Given the description of an element on the screen output the (x, y) to click on. 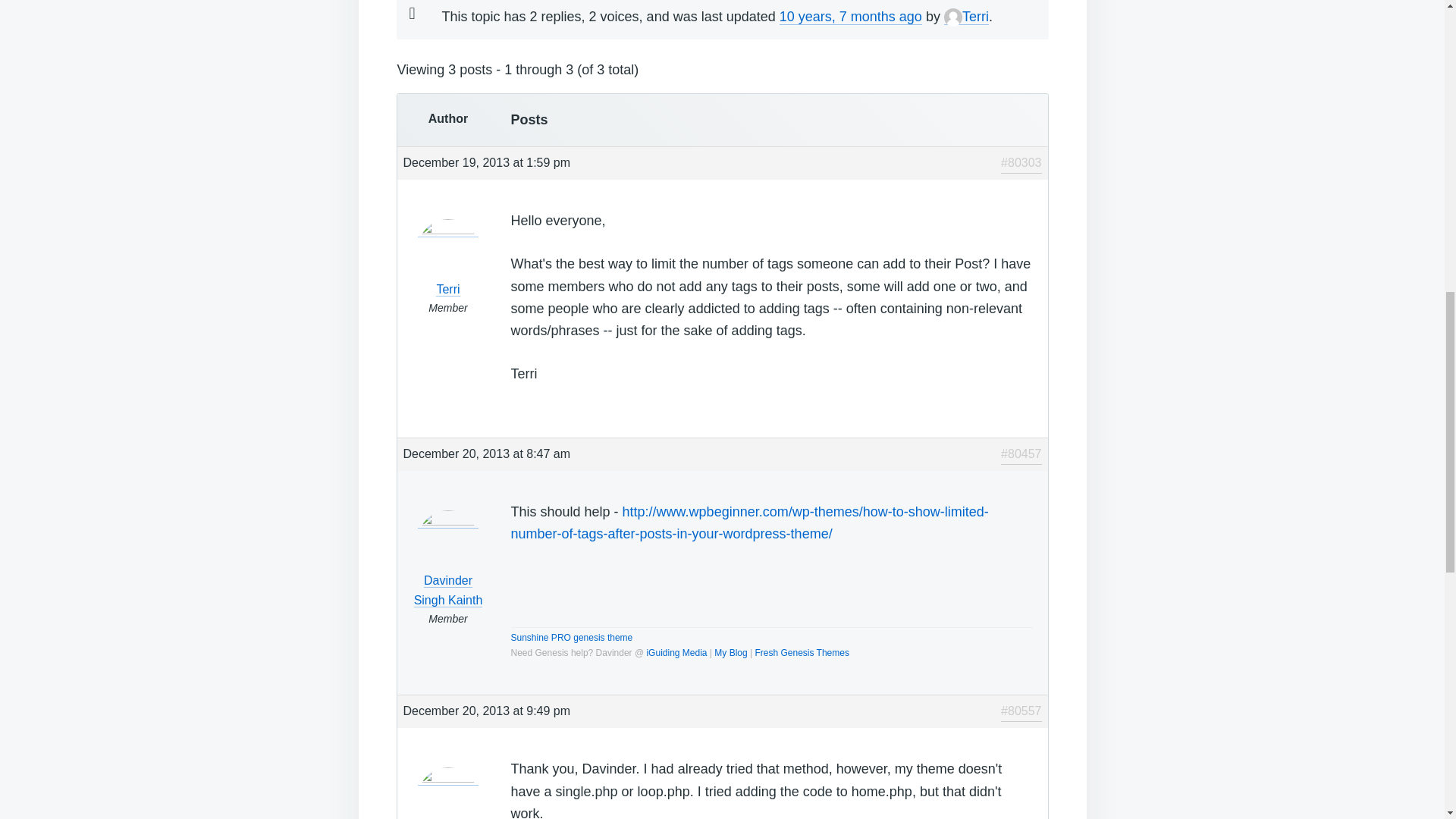
Reply To: Limit the Number of Tags allowed in Posts (849, 17)
Terri (965, 17)
iGuiding Media (676, 652)
View Terri's profile (448, 795)
My Blog (730, 652)
View Terri's profile (965, 17)
10 years, 7 months ago (849, 17)
Sunshine PRO genesis theme (572, 637)
